Given the description of an element on the screen output the (x, y) to click on. 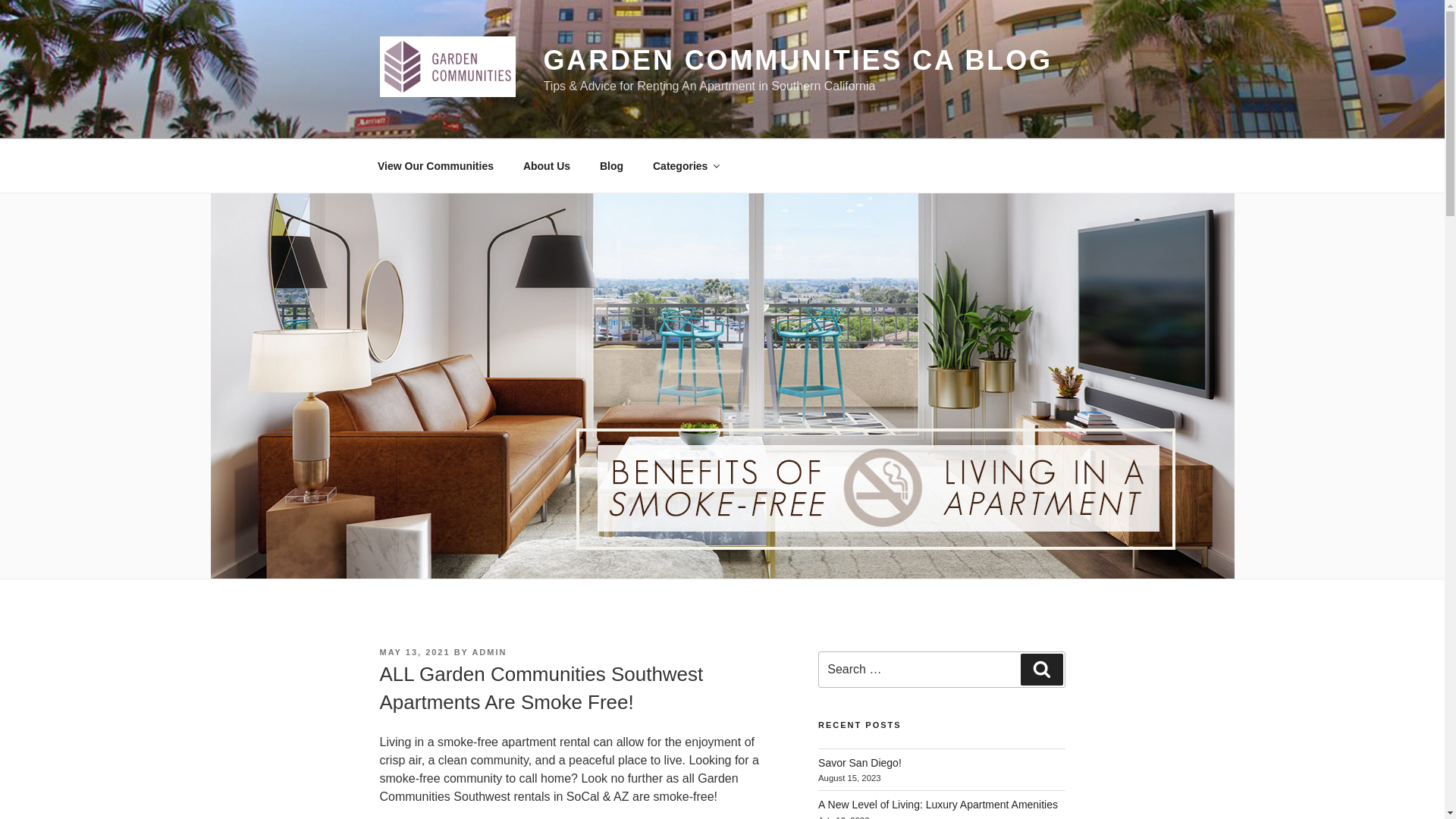
View Our Communities (435, 165)
GARDEN COMMUNITIES CA BLOG (797, 60)
Categories (686, 165)
About Us (546, 165)
Savor San Diego! (859, 762)
A New Level of Living: Luxury Apartment Amenities (938, 804)
ADMIN (488, 651)
MAY 13, 2021 (413, 651)
Search (1041, 669)
Blog (611, 165)
